Given the description of an element on the screen output the (x, y) to click on. 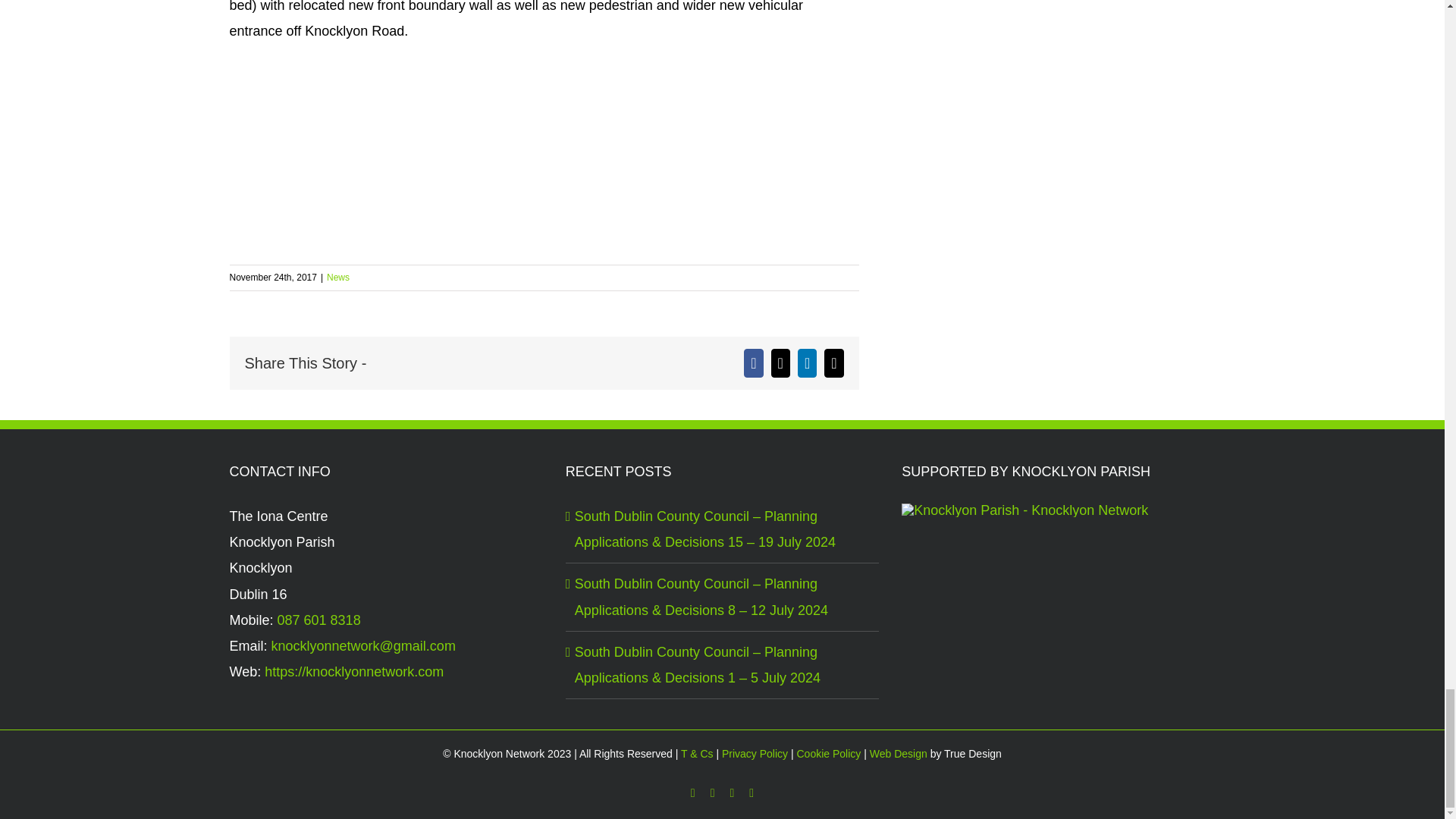
Cookie Policy (828, 753)
News (337, 276)
Web Design (896, 753)
087 601 8318 (319, 620)
Privacy Policy (754, 753)
Visit True Design Site (896, 753)
